Given the description of an element on the screen output the (x, y) to click on. 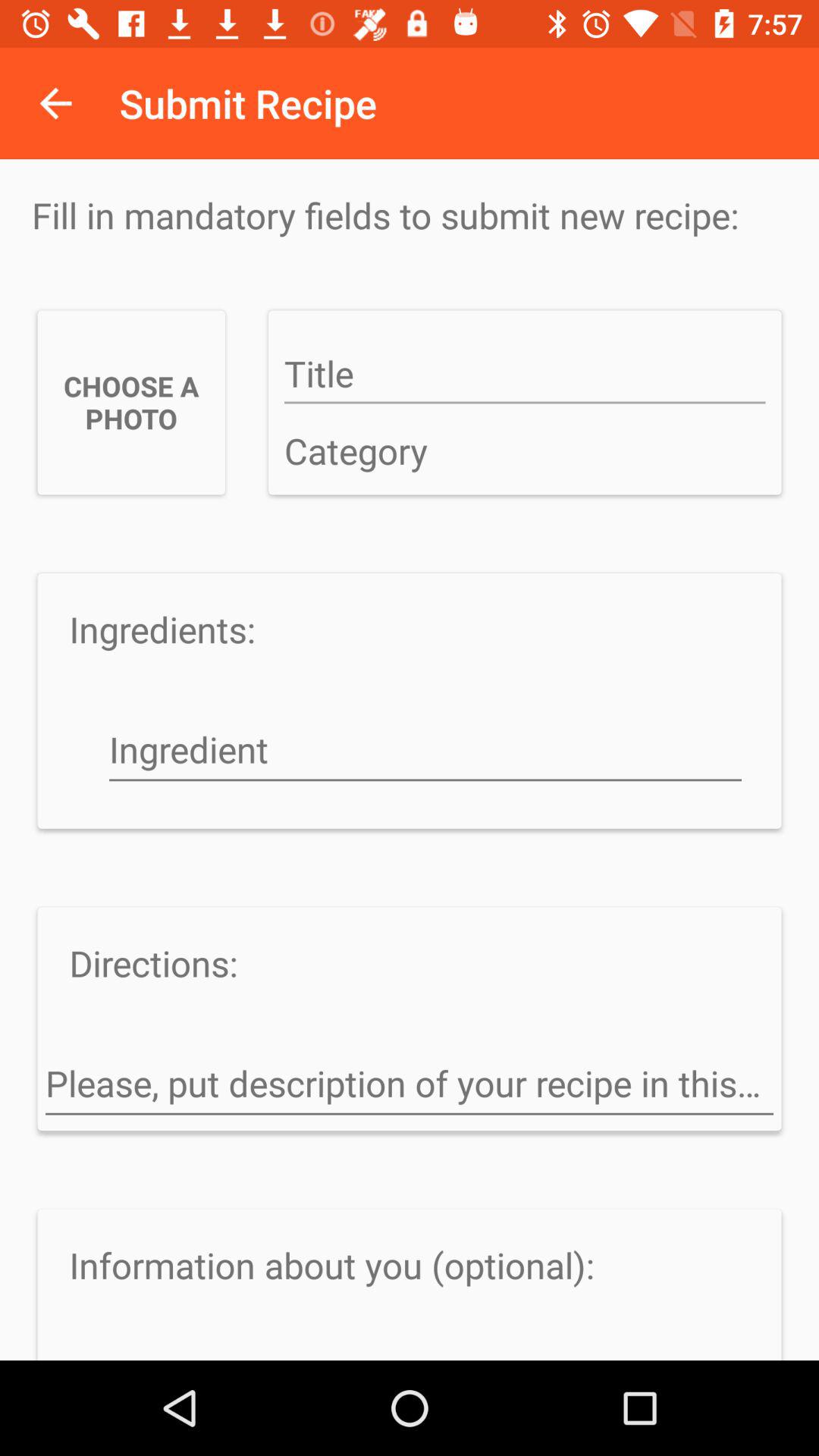
classify a category (524, 451)
